Given the description of an element on the screen output the (x, y) to click on. 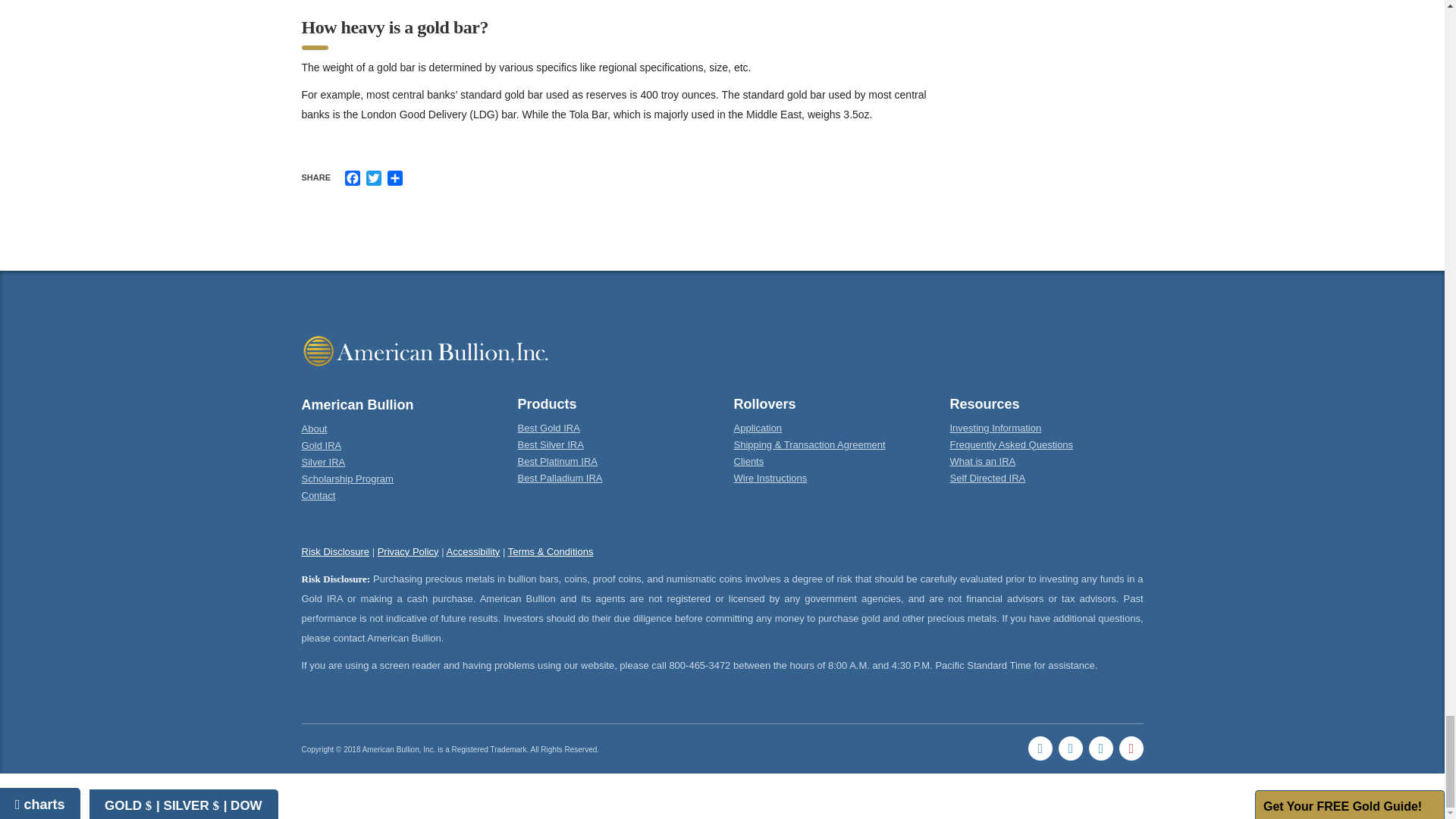
Facebook (352, 177)
Customer reviews powered by Trustpilot (721, 693)
Twitter (373, 177)
